Given the description of an element on the screen output the (x, y) to click on. 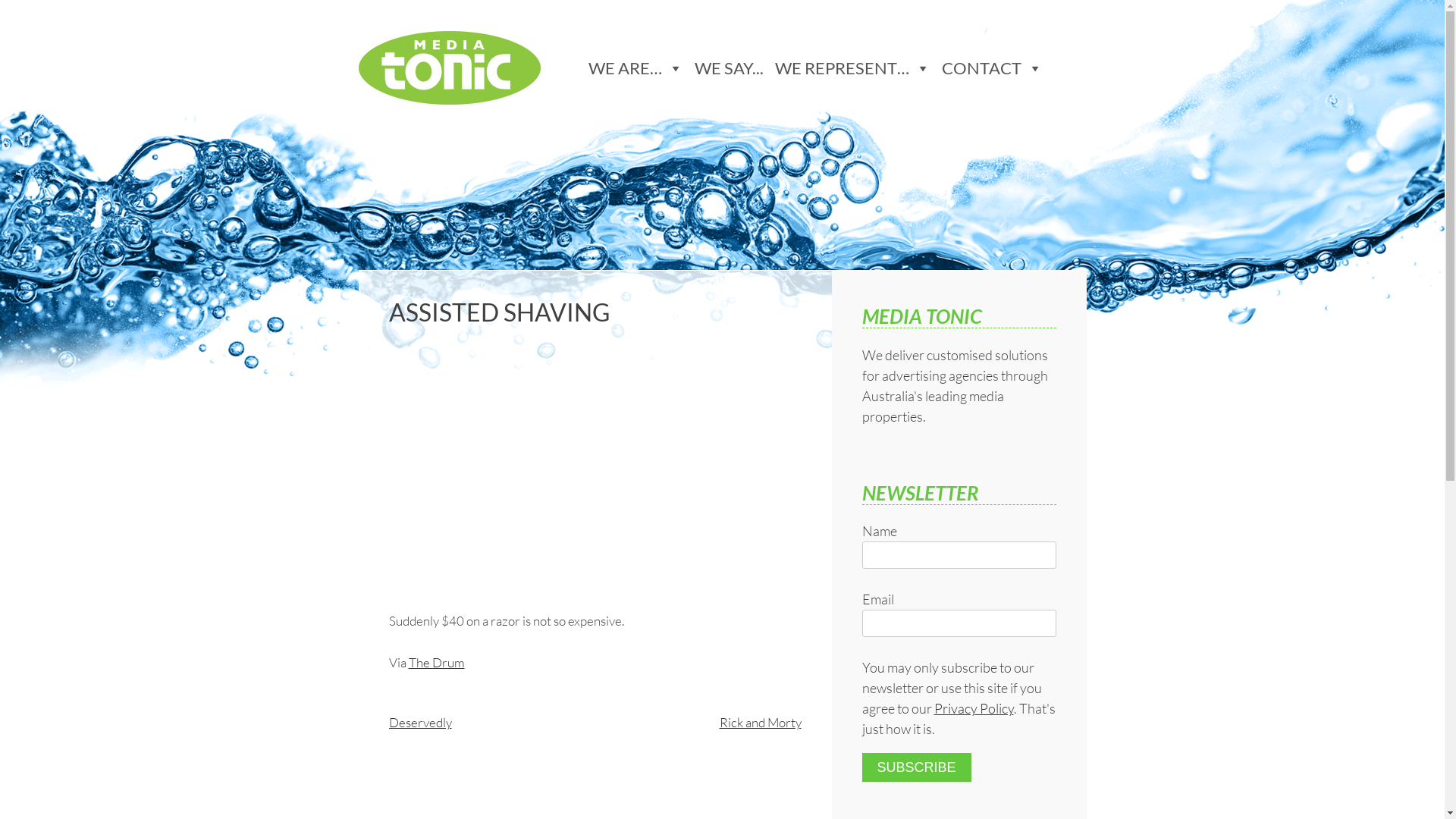
WE SAY... Element type: text (734, 68)
CONTACT Element type: text (997, 68)
Deservedly Element type: text (419, 722)
Rick and Morty Element type: text (759, 722)
The Drum Element type: text (435, 662)
SUBSCRIBE Element type: text (915, 767)
Skip to content Element type: text (357, 21)
Privacy Policy Element type: text (973, 707)
